Given the description of an element on the screen output the (x, y) to click on. 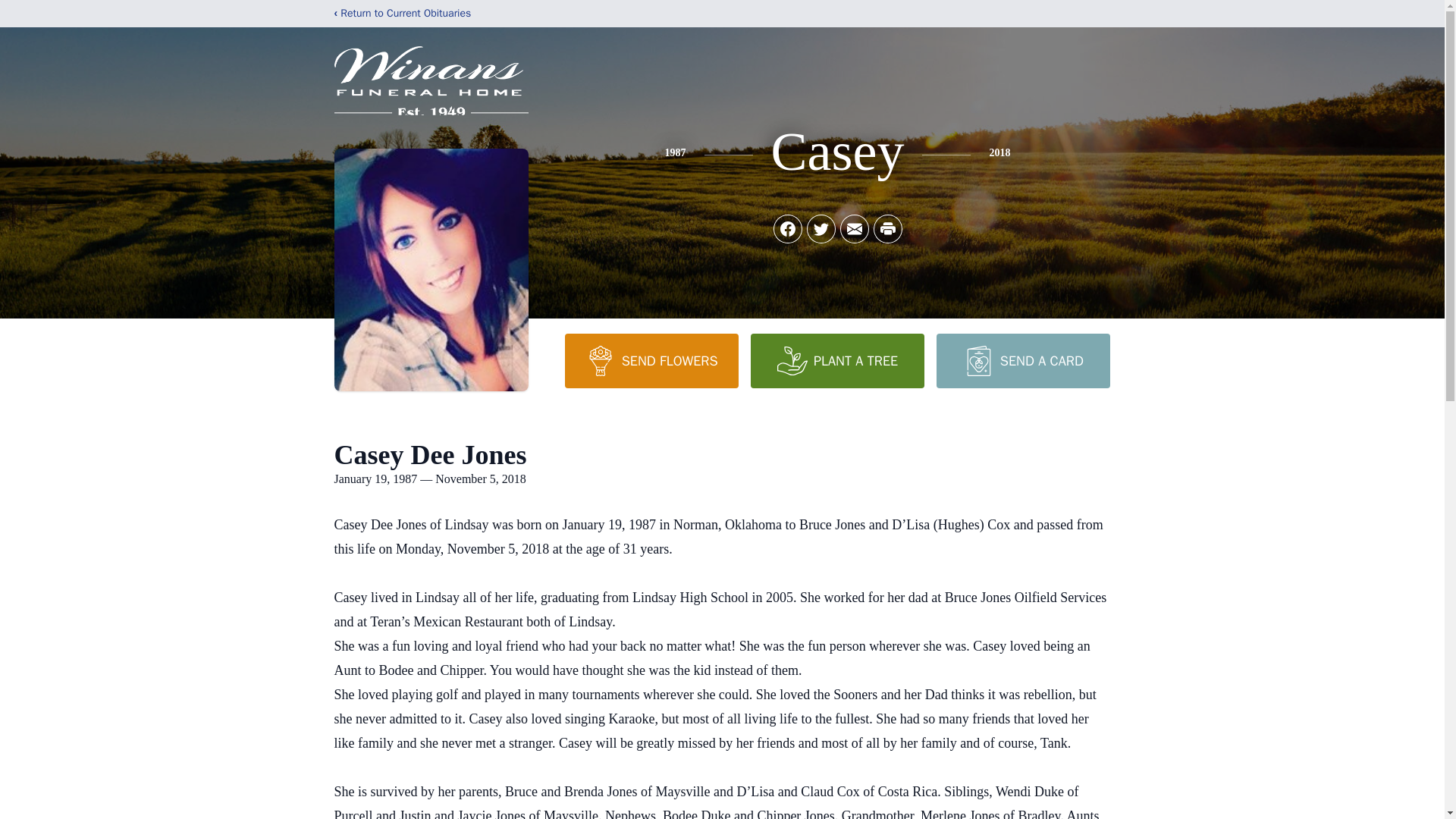
SEND FLOWERS (651, 360)
PLANT A TREE (837, 360)
SEND A CARD (1022, 360)
